Given the description of an element on the screen output the (x, y) to click on. 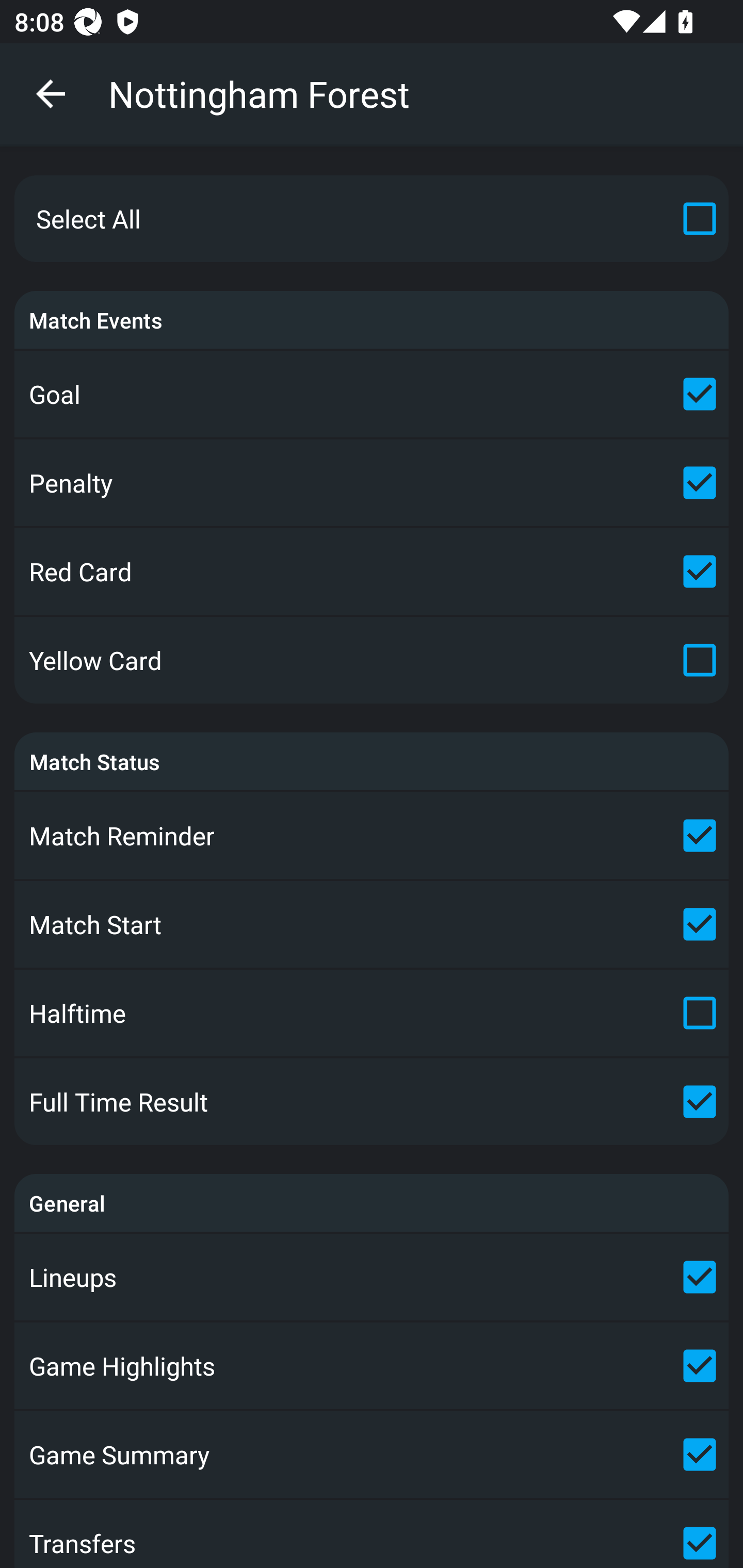
Navigate up (50, 93)
Goal (371, 394)
Penalty (371, 482)
Red Card (371, 571)
Yellow Card (371, 660)
Match Reminder (371, 835)
Match Start (371, 924)
Halftime (371, 1012)
Full Time Result (371, 1101)
Lineups (371, 1277)
Game Highlights (371, 1365)
Game Summary (371, 1454)
Transfers (371, 1534)
